Given the description of an element on the screen output the (x, y) to click on. 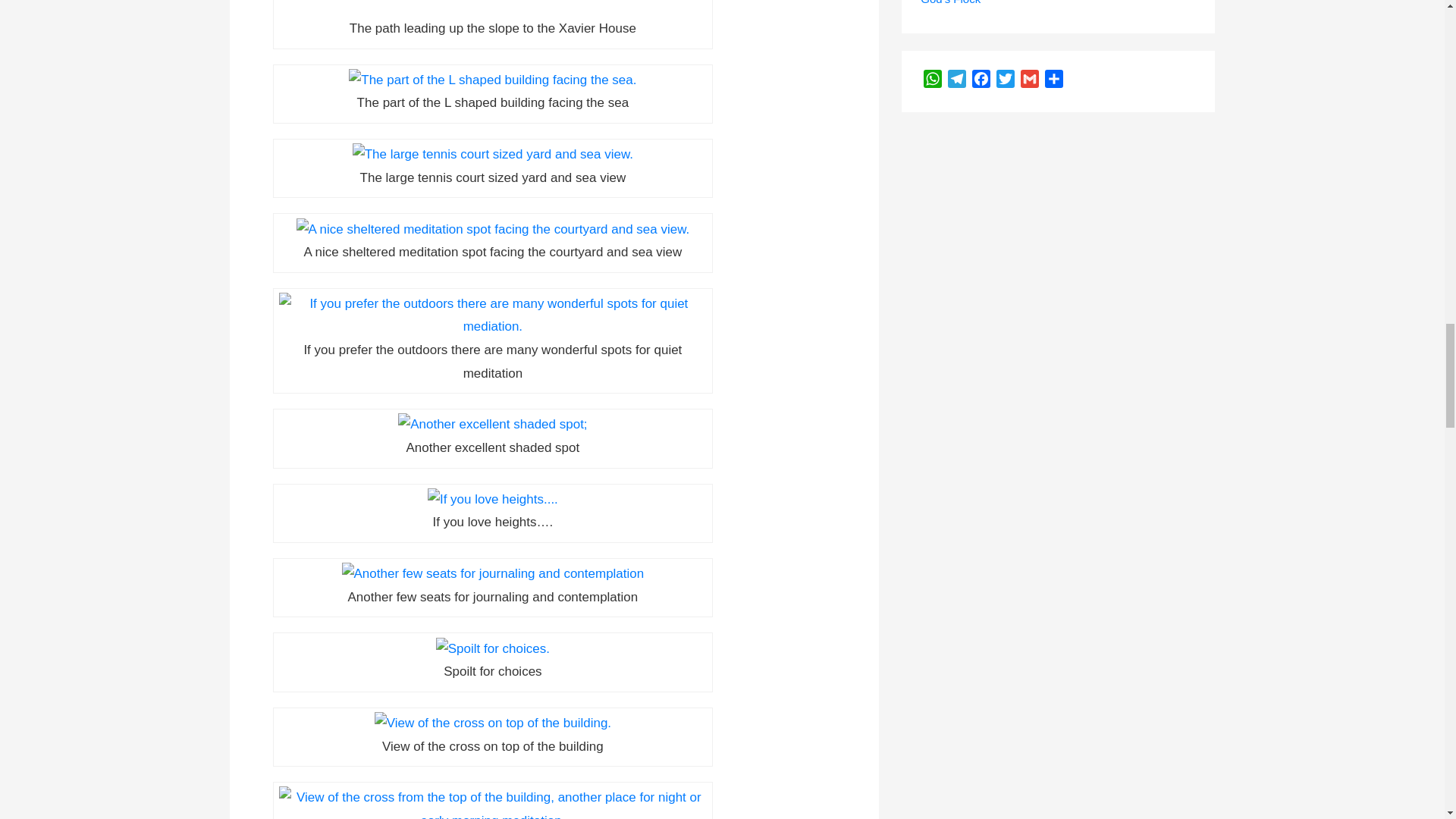
Telegram (956, 81)
Twitter (1004, 81)
Facebook (980, 81)
WhatsApp (932, 81)
Gmail (1029, 81)
